Given the description of an element on the screen output the (x, y) to click on. 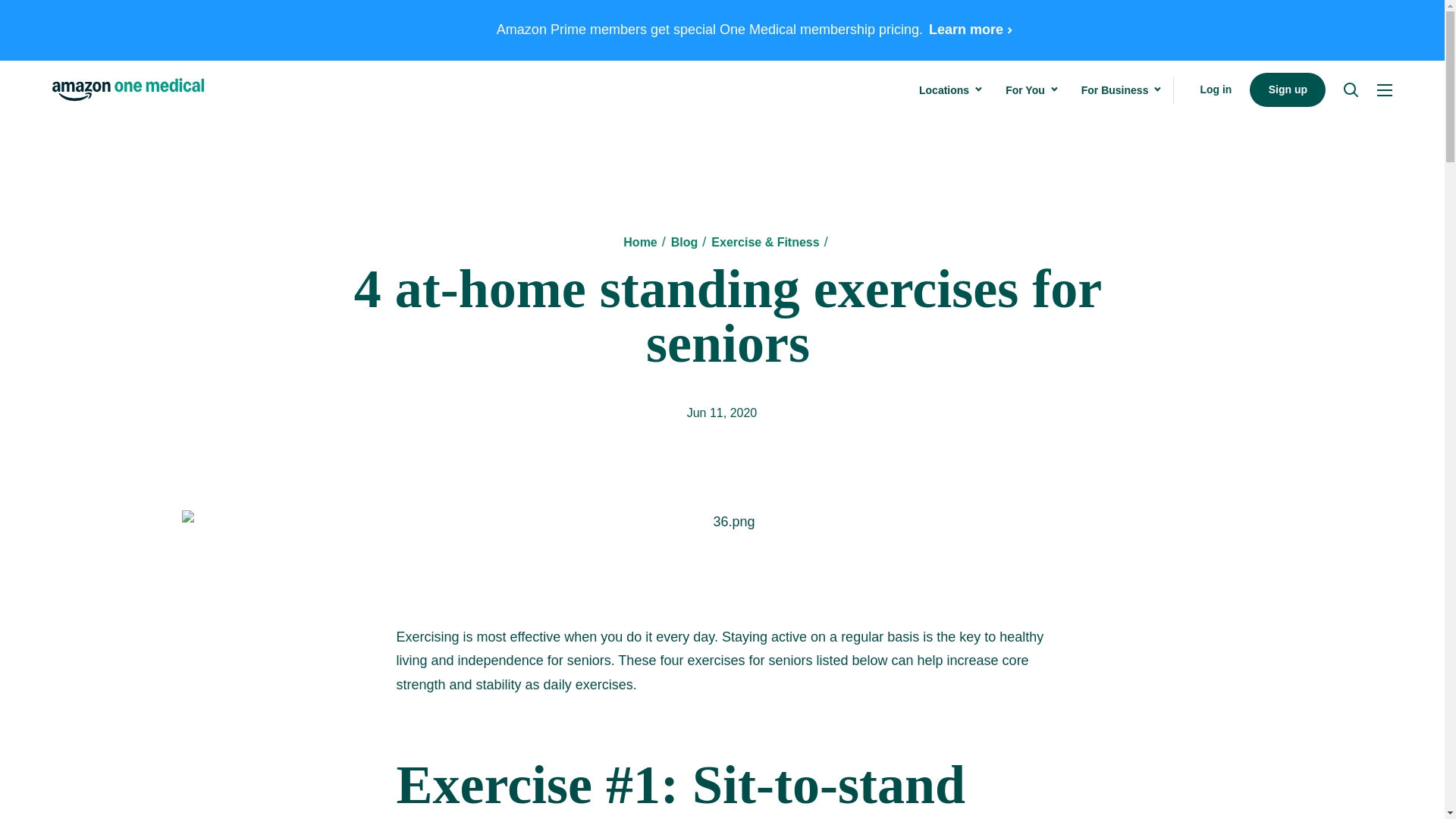
Log in (1215, 89)
For Business (1114, 89)
For You (1025, 89)
Locations (969, 30)
Sign up (943, 89)
